Given the description of an element on the screen output the (x, y) to click on. 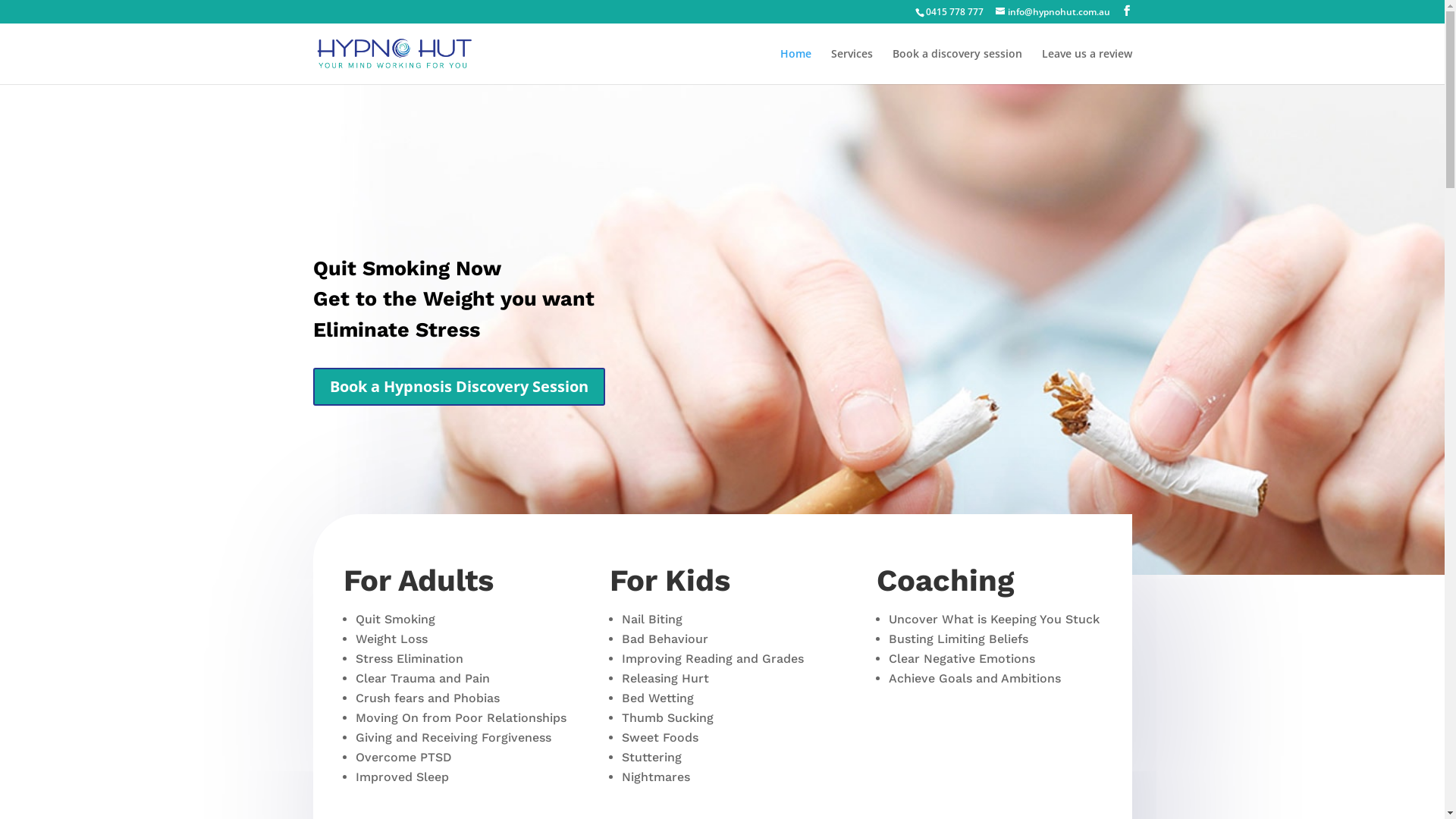
Home Element type: text (794, 66)
Book a discovery session Element type: text (956, 66)
Services Element type: text (851, 66)
0415 778 777 Element type: text (953, 11)
info@hypnohut.com.au Element type: text (1051, 11)
Book a Hypnosis Discovery Session Element type: text (458, 386)
Leave us a review Element type: text (1086, 66)
